Given the description of an element on the screen output the (x, y) to click on. 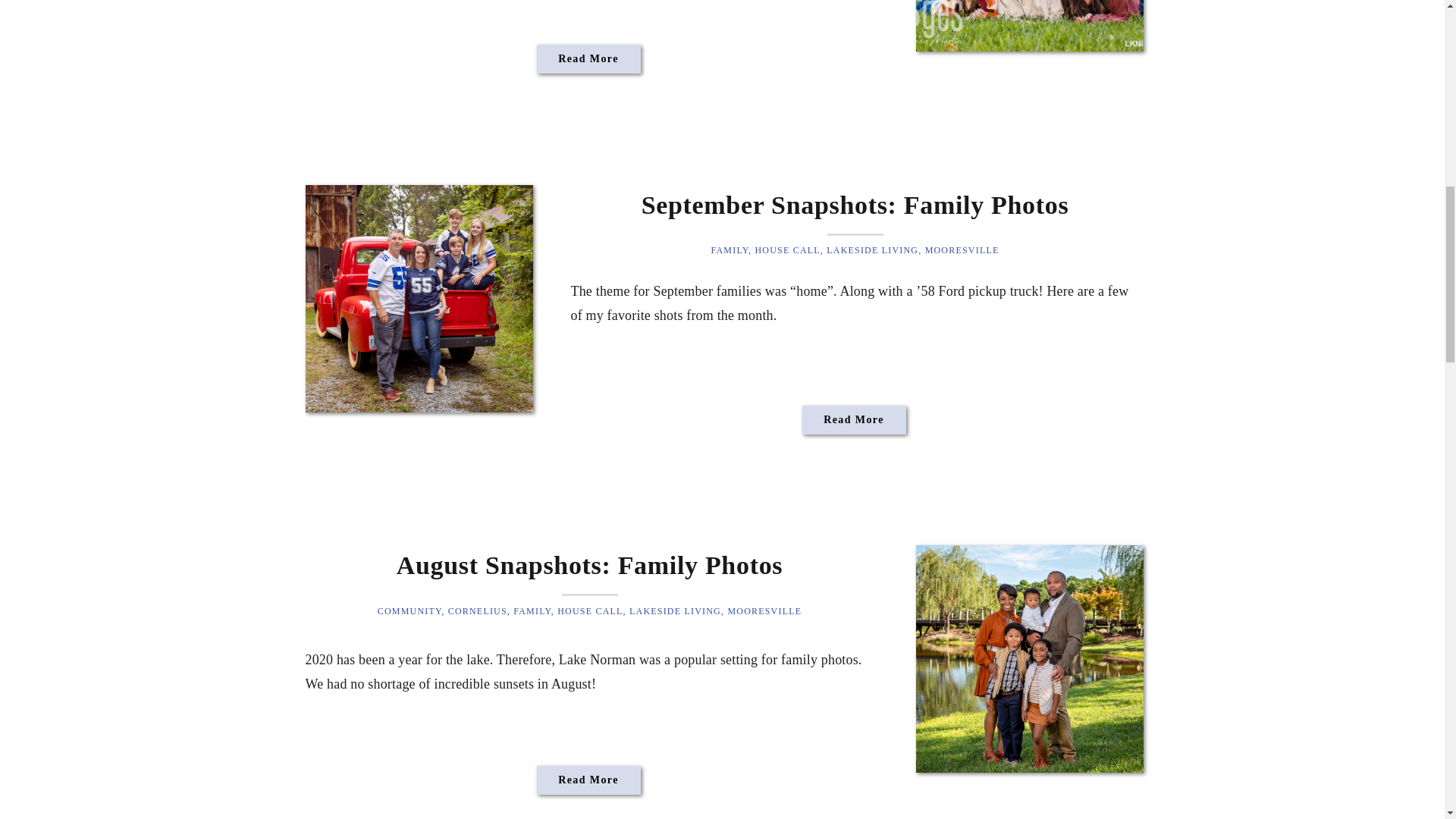
September Snapshots: Family Photos (418, 298)
September Snapshots: Family Photos (853, 421)
August Snapshots: Family Photos (1028, 659)
August Snapshots: Family Photos (588, 781)
October Snapshots: Family Photos (588, 60)
October Snapshots: Family Photos (1028, 25)
